Given the description of an element on the screen output the (x, y) to click on. 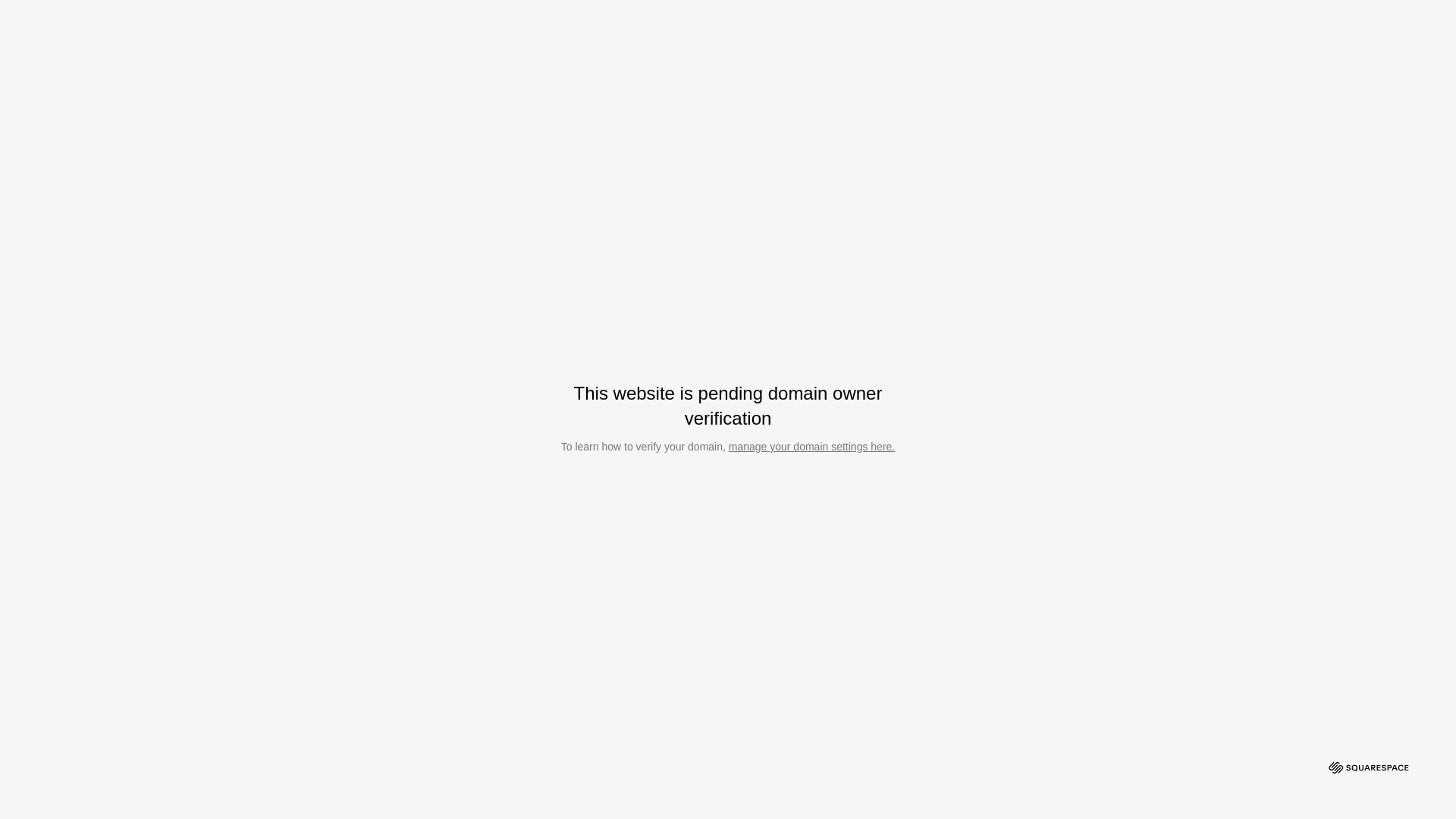
manage your domain settings here. Element type: text (811, 446)
